Given the description of an element on the screen output the (x, y) to click on. 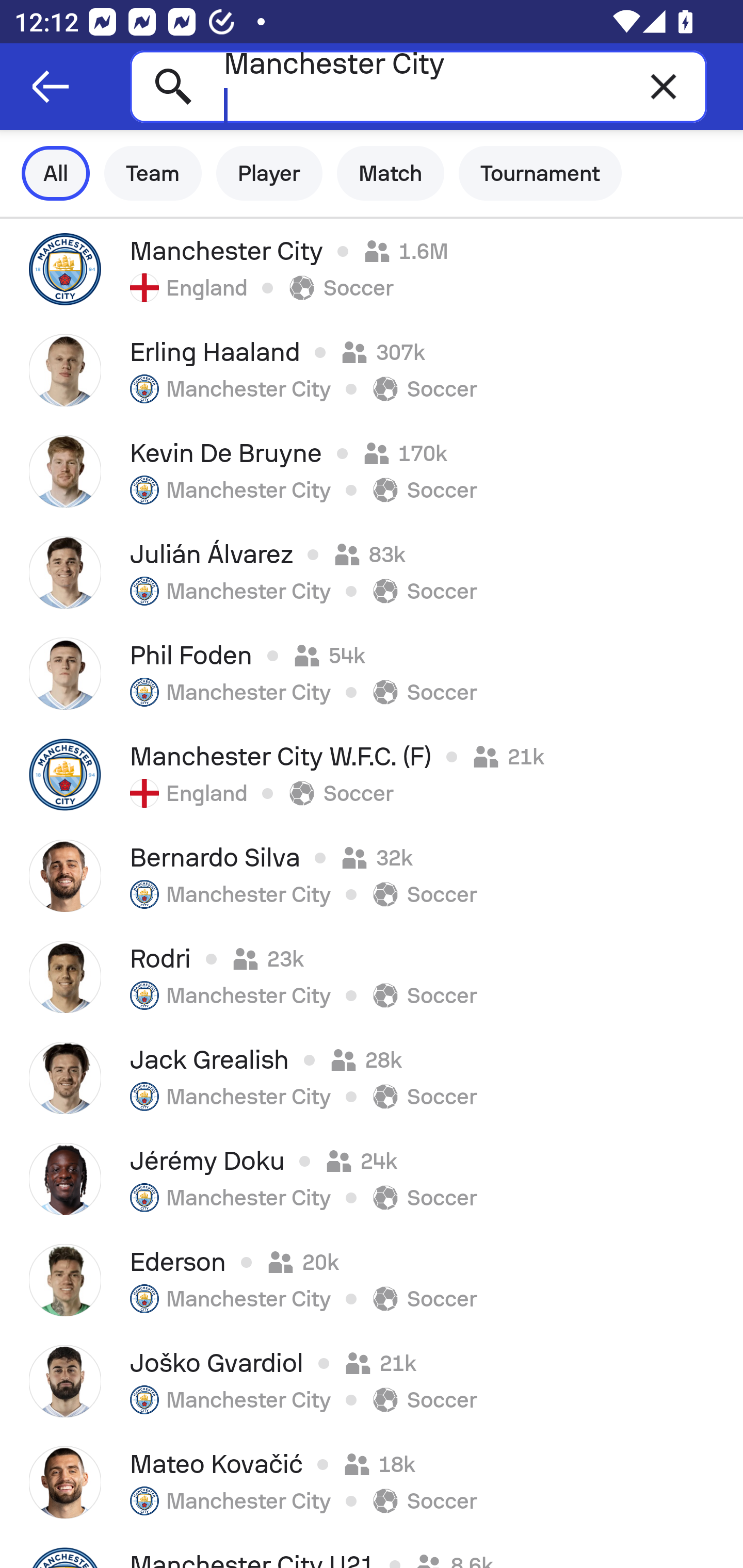
Navigate up (50, 86)
Manchester City
 (418, 86)
Clear text (663, 86)
All (55, 172)
Team (152, 172)
Player (268, 172)
Match (390, 172)
Tournament (540, 172)
Manchester City 1.6M England Soccer (371, 268)
Erling Haaland 307k Manchester City Soccer (371, 369)
Kevin De Bruyne 170k Manchester City Soccer (371, 471)
Julián Álvarez 83k Manchester City Soccer (371, 572)
Phil Foden 54k Manchester City Soccer (371, 673)
Manchester City W.F.C. (F) 21k England Soccer (371, 774)
Bernardo Silva 32k Manchester City Soccer (371, 875)
Rodri 23k Manchester City Soccer (371, 976)
Jack Grealish 28k Manchester City Soccer (371, 1077)
Jérémy Doku 24k Manchester City Soccer (371, 1178)
Ederson 20k Manchester City Soccer (371, 1280)
Joško Gvardiol 21k Manchester City Soccer (371, 1381)
Mateo Kovačić 18k Manchester City Soccer (371, 1482)
